Given the description of an element on the screen output the (x, y) to click on. 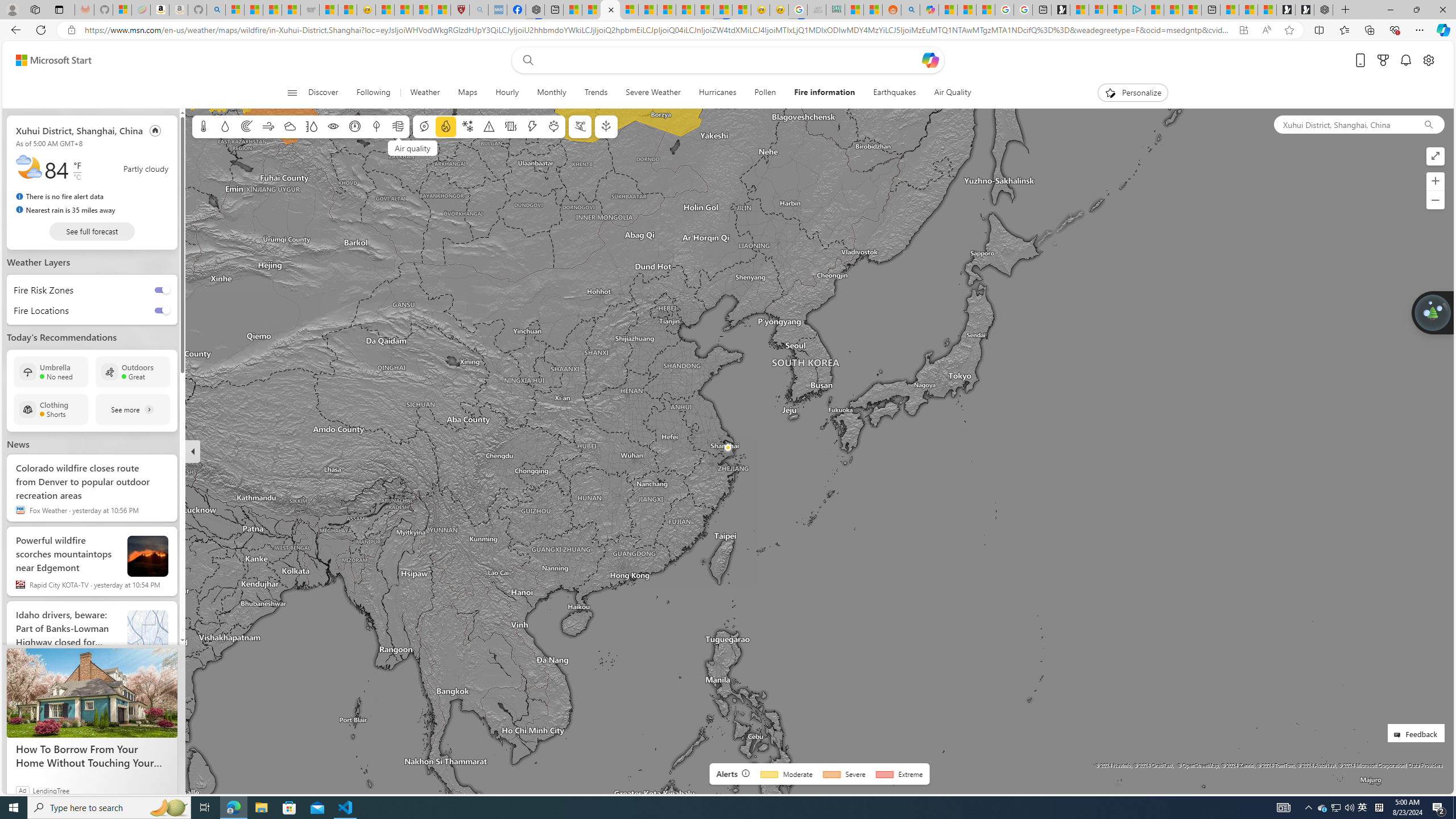
Join us in planting real trees to help our planet! (1431, 312)
Visibility (333, 126)
Zoom out (1435, 199)
Severe Weather (652, 92)
App available. Install Microsoft Start Weather (1243, 29)
E-tree (605, 126)
Xuhui District, Shanghai, China (1342, 124)
